Given the description of an element on the screen output the (x, y) to click on. 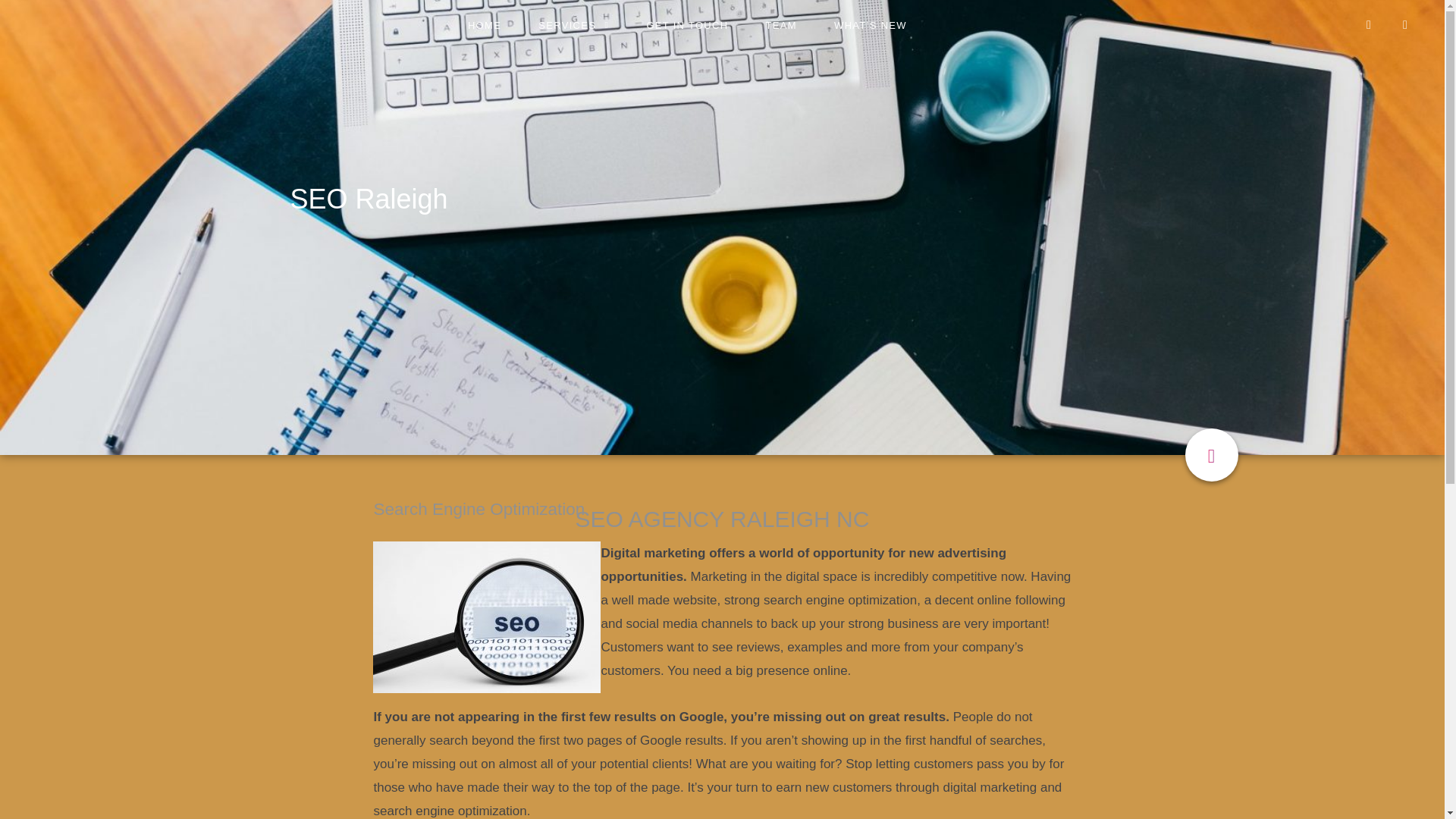
SERVICES (573, 25)
GET IN TOUCH (687, 25)
HOME (483, 25)
TEAM (780, 25)
